Given the description of an element on the screen output the (x, y) to click on. 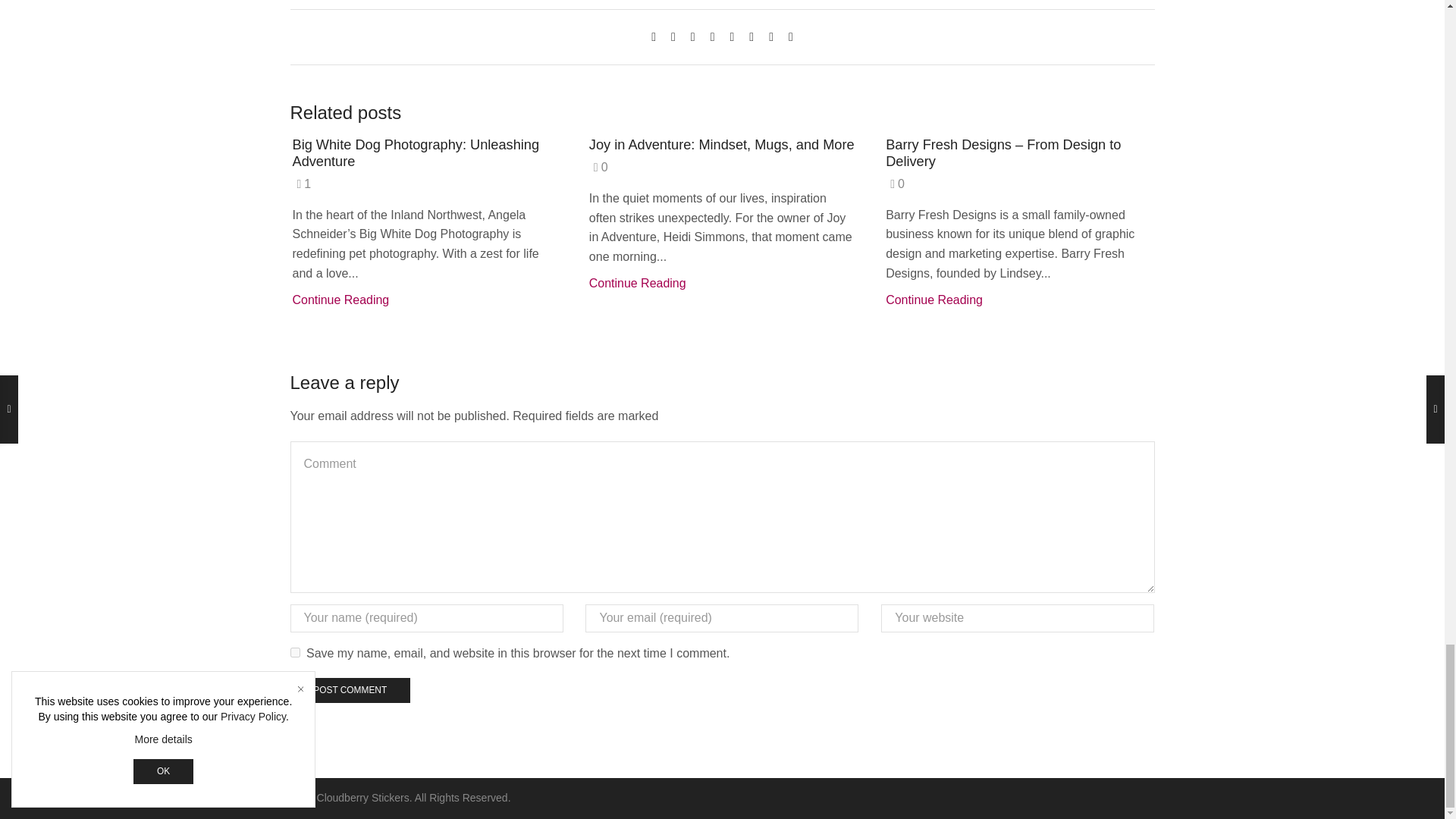
VK (692, 36)
Post Comment (349, 690)
yes (294, 652)
Facebook (672, 36)
Pinterest (712, 36)
